Given the description of an element on the screen output the (x, y) to click on. 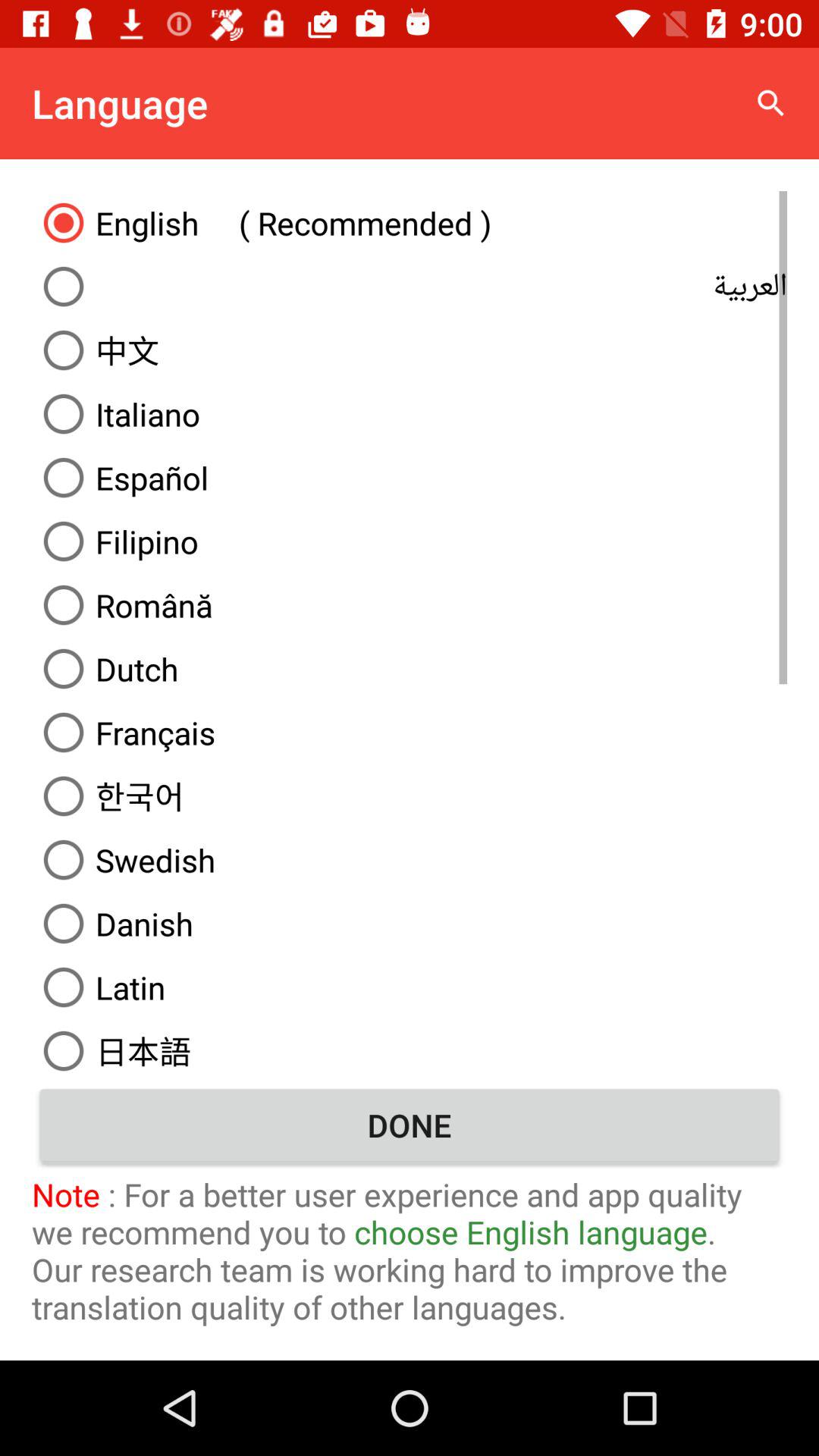
press the item above the swedish icon (409, 796)
